Given the description of an element on the screen output the (x, y) to click on. 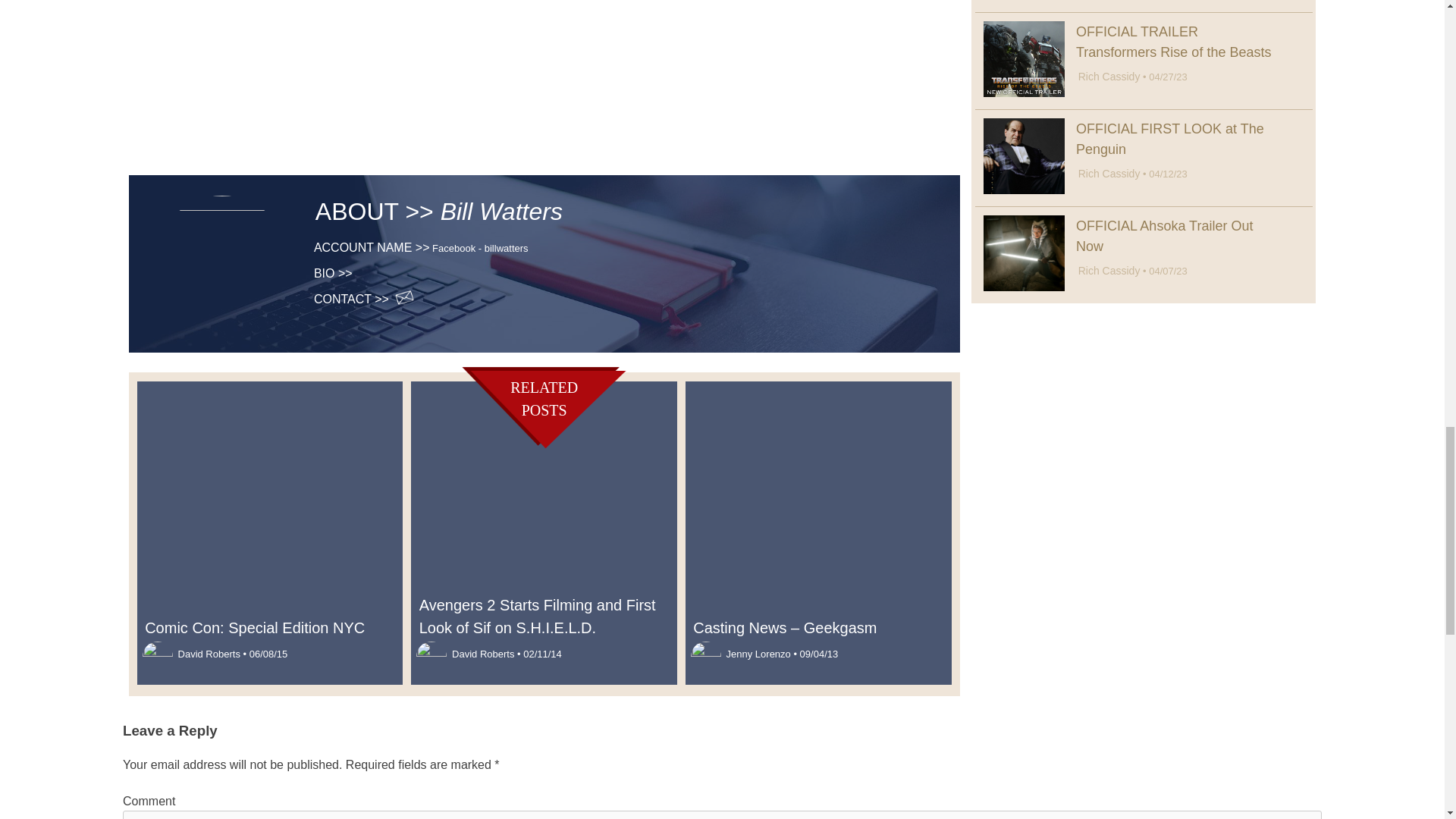
David Roberts (208, 654)
Comic Con: Special Edition NYC (269, 628)
